Given the description of an element on the screen output the (x, y) to click on. 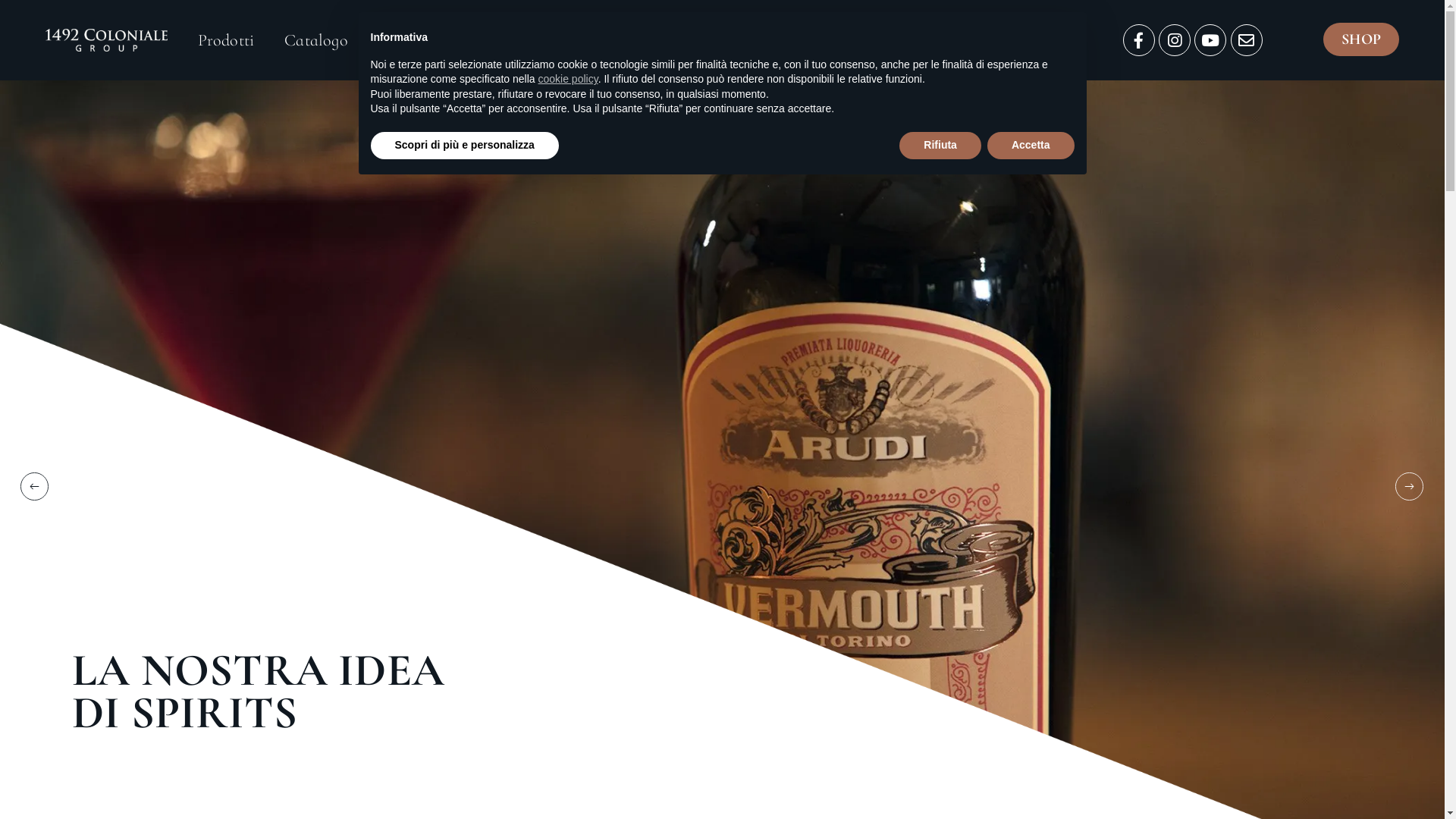
Rifiuta Element type: text (940, 145)
Contatti Element type: text (618, 39)
Catalogo Element type: text (316, 39)
SHOP Element type: text (1361, 39)
Accetta Element type: text (1030, 145)
Press&News Element type: text (518, 39)
Prodotti Element type: text (225, 39)
cookie policy Element type: text (568, 78)
Chi siamo Element type: text (412, 39)
